Given the description of an element on the screen output the (x, y) to click on. 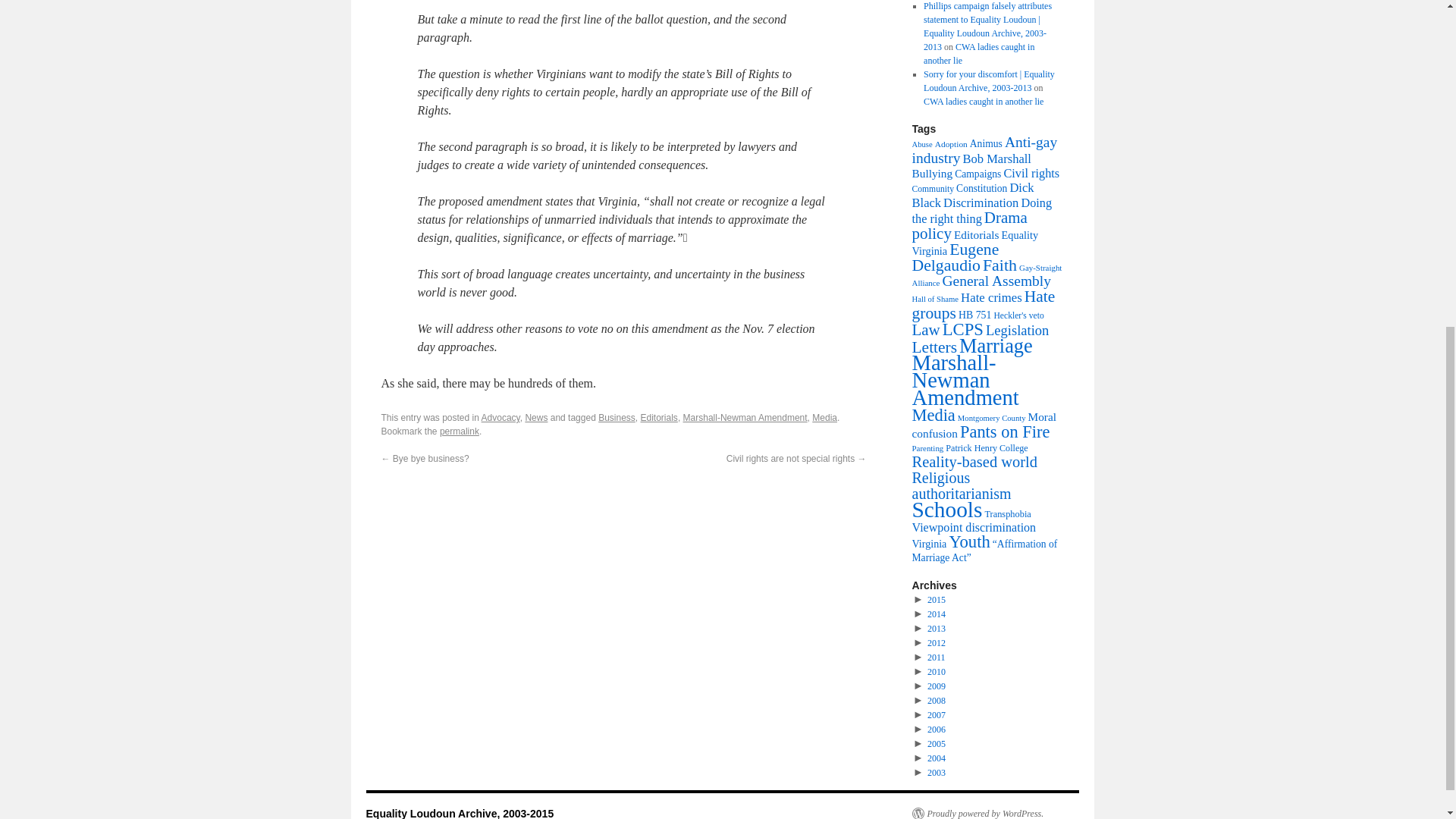
Media (824, 417)
Marshall-Newman Amendment (745, 417)
Advocacy (500, 417)
click to expand (919, 599)
permalink (459, 430)
Editorials (659, 417)
click to expand (919, 614)
Business (616, 417)
News (535, 417)
